Given the description of an element on the screen output the (x, y) to click on. 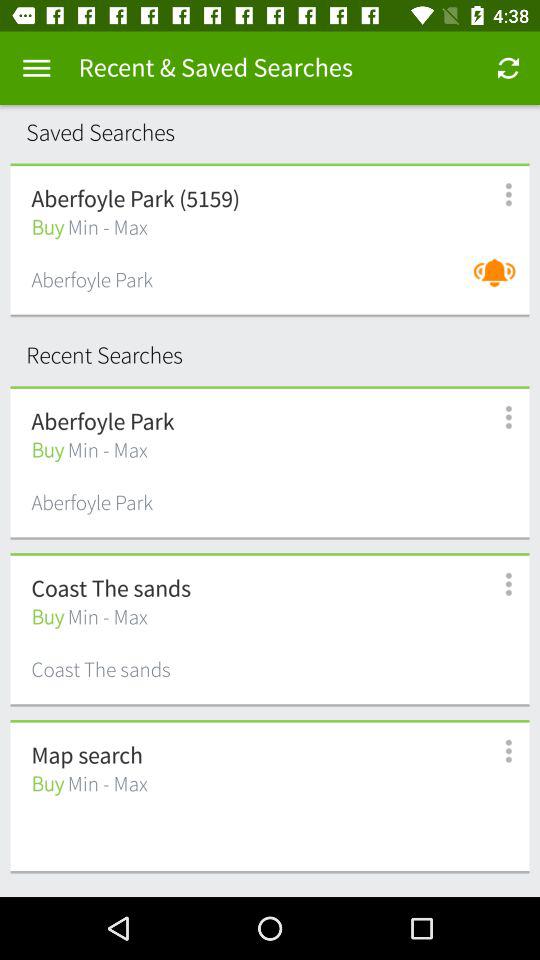
more information about this option (497, 194)
